Given the description of an element on the screen output the (x, y) to click on. 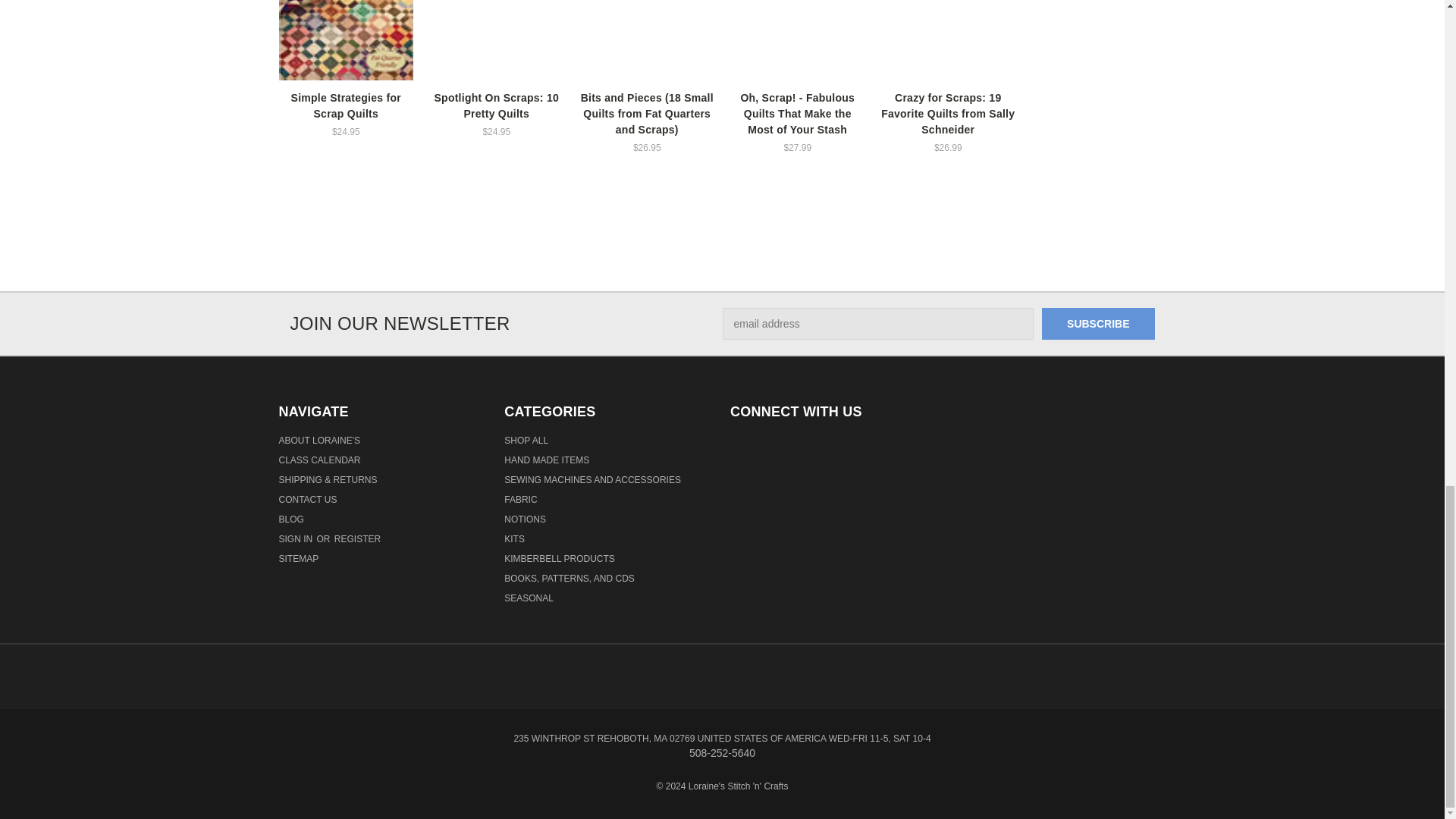
Simple Strategies for Scrap Quilts (346, 40)
Spotlight On Scraps: 10 Pretty Quilts (496, 40)
Crazy for Scraps: 19 Favorite Quilts from Sally Schneider (948, 40)
Subscribe (1098, 323)
